Given the description of an element on the screen output the (x, y) to click on. 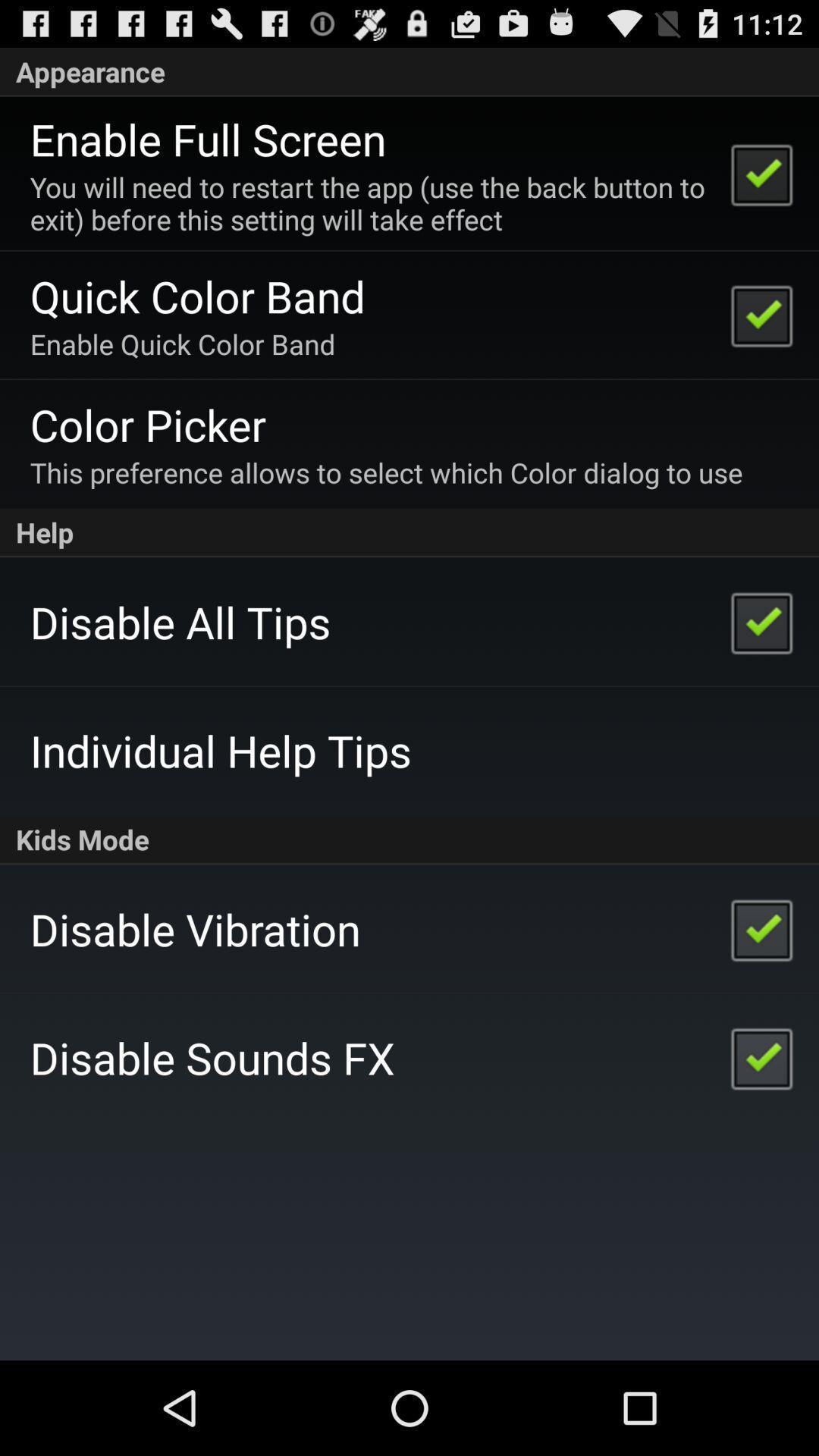
turn off item above the enable full screen app (409, 71)
